Given the description of an element on the screen output the (x, y) to click on. 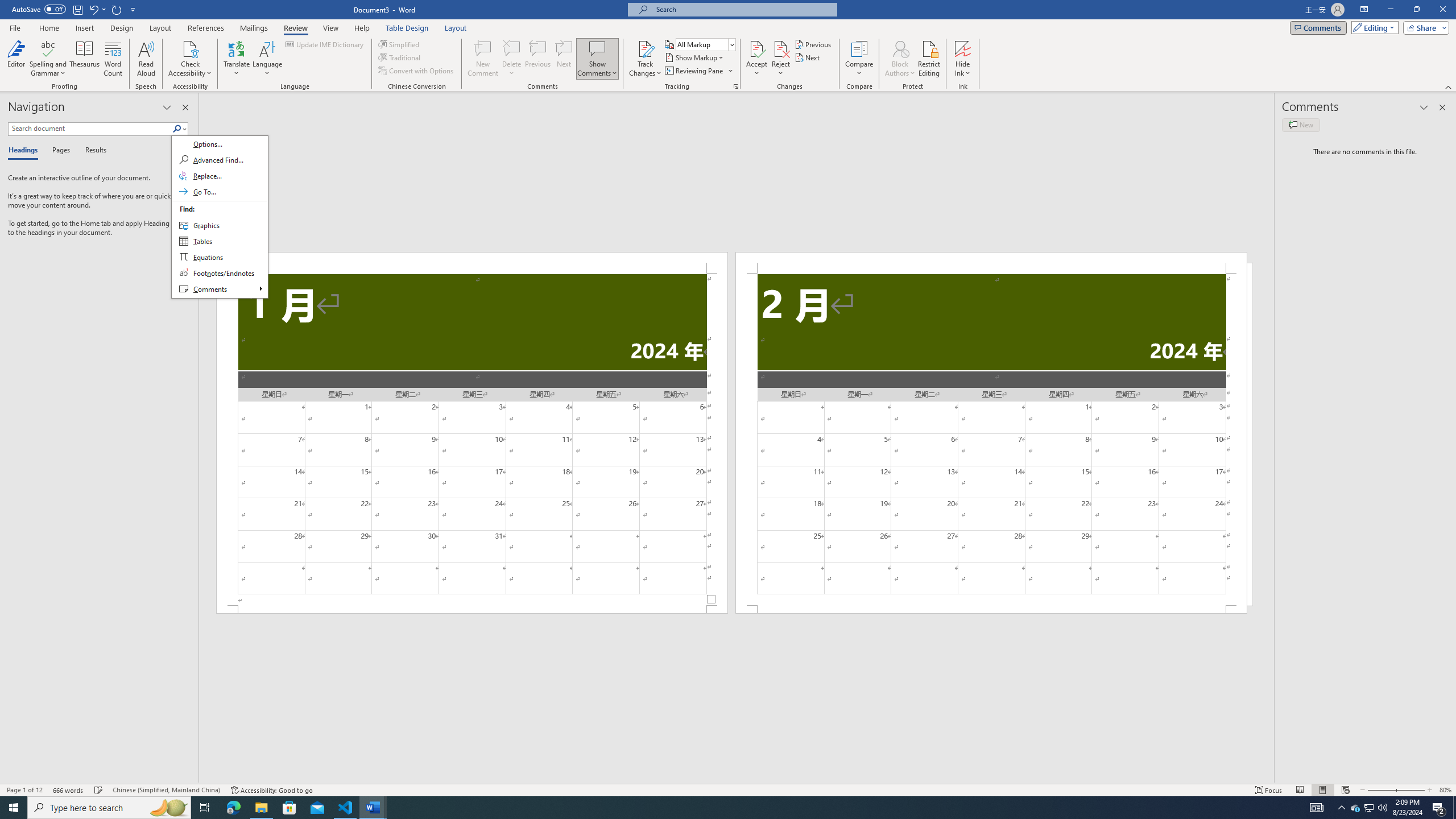
Reject and Move to Next (780, 48)
Previous (813, 44)
Display for Review (705, 44)
Track Changes (644, 48)
Hide Ink (962, 48)
Reviewing Pane (694, 69)
Accept and Move to Next (756, 48)
Change Tracking Options... (735, 85)
